Given the description of an element on the screen output the (x, y) to click on. 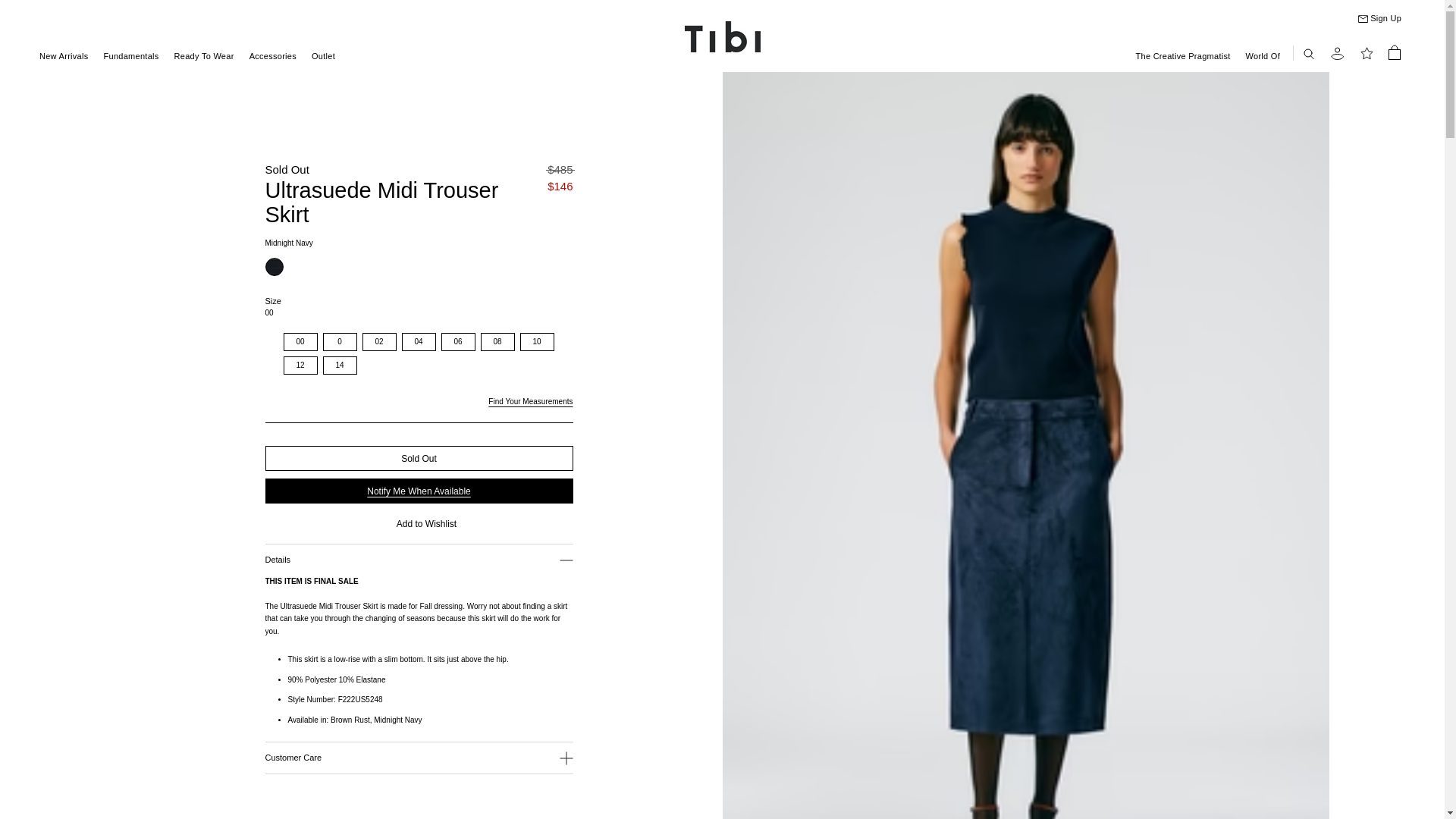
Opens in a new window (529, 401)
